Given the description of an element on the screen output the (x, y) to click on. 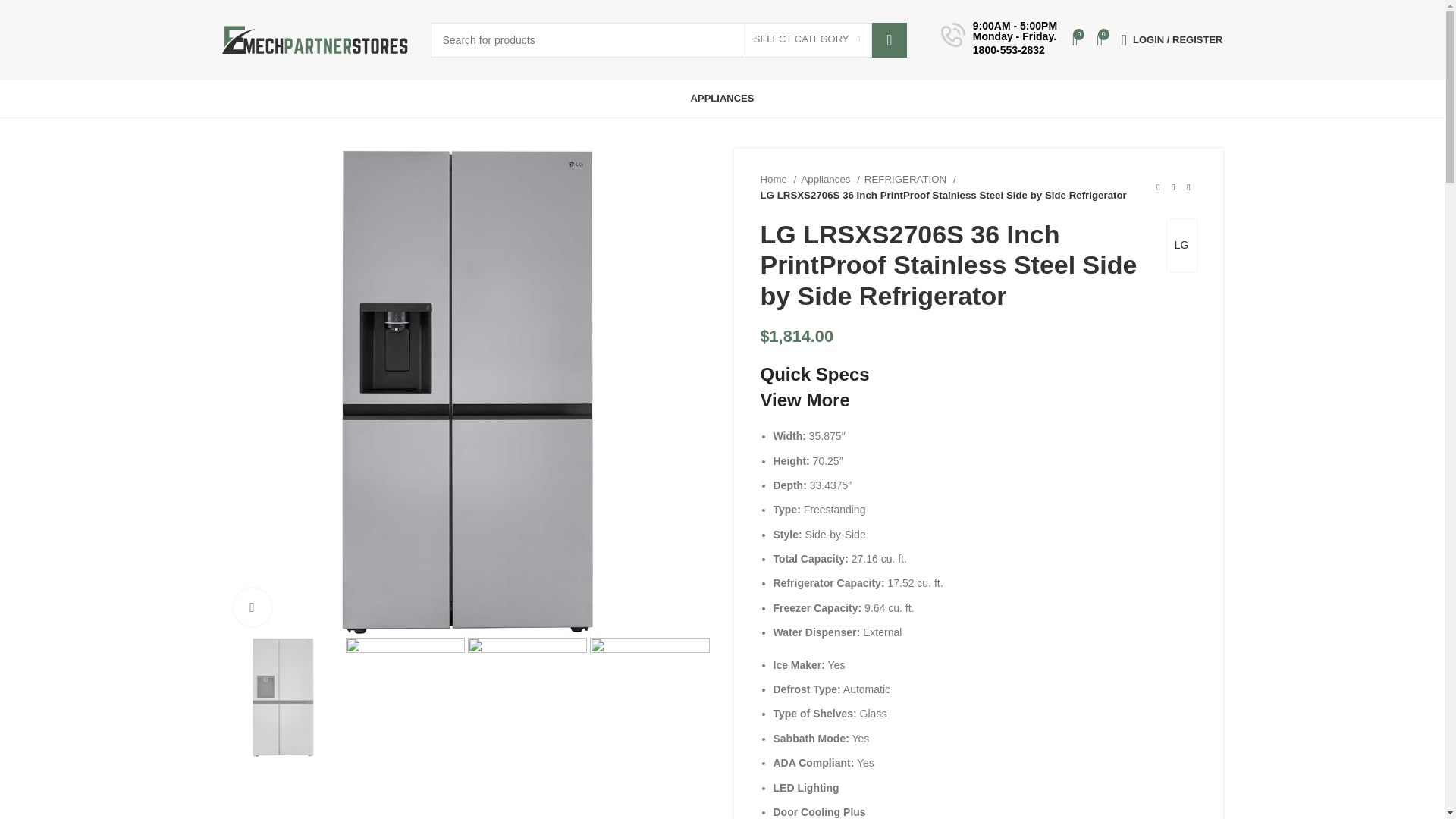
Home (778, 179)
SEARCH (889, 39)
Log in (1097, 281)
Search for products (668, 39)
SELECT CATEGORY (806, 39)
APPLIANCES (722, 98)
My account (1171, 39)
SELECT CATEGORY (806, 39)
